Given the description of an element on the screen output the (x, y) to click on. 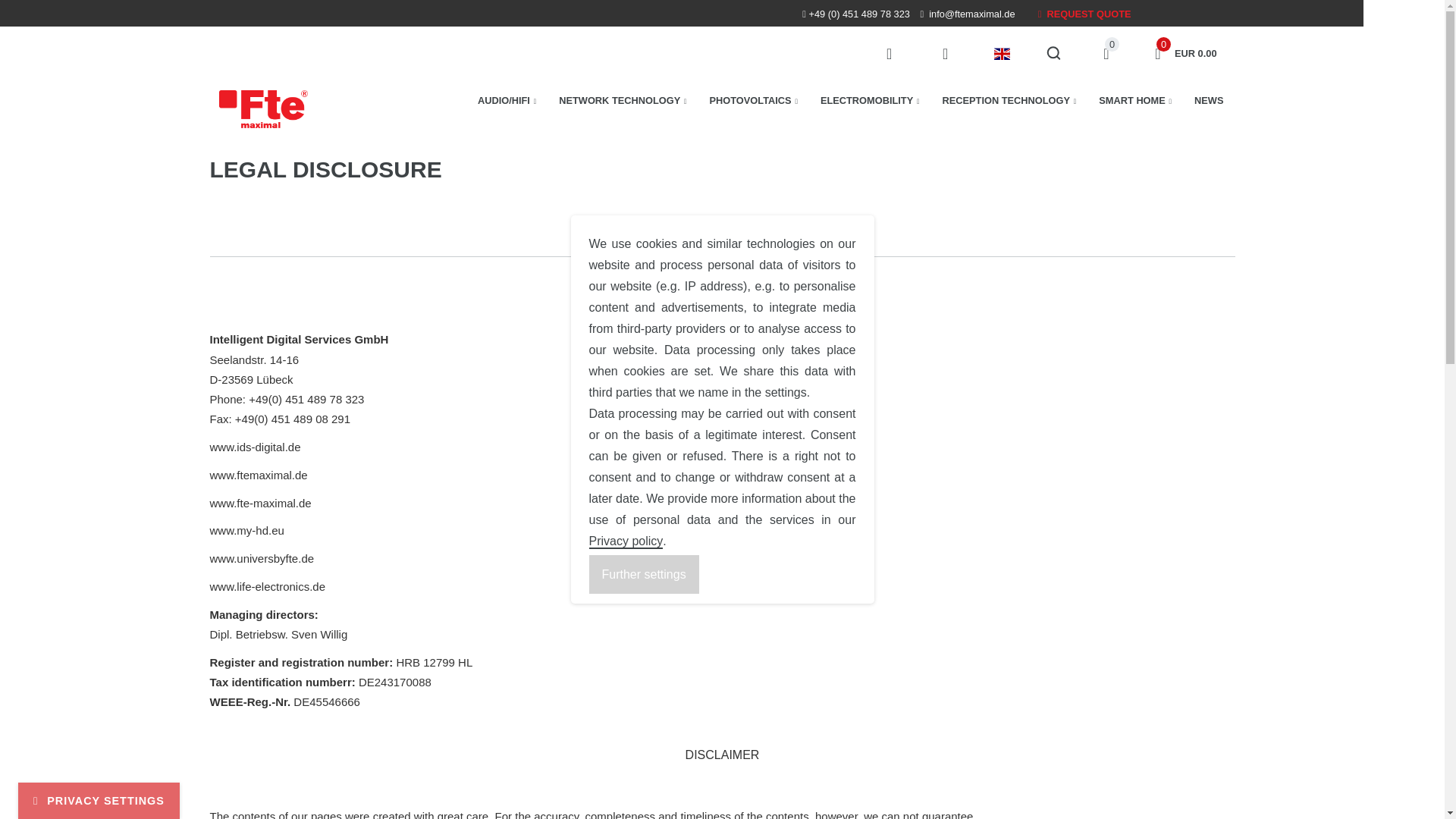
  REQUEST QUOTE (1084, 13)
SMART HOME (1134, 100)
  REQUEST QUOTE (1084, 13)
NETWORK TECHNOLOGY (1183, 53)
PHOTOVOLTAICS (622, 100)
0 (753, 100)
RECEPTION TECHNOLOGY (1106, 53)
ELECTROMOBILITY (1009, 100)
NEWS (870, 100)
